Given the description of an element on the screen output the (x, y) to click on. 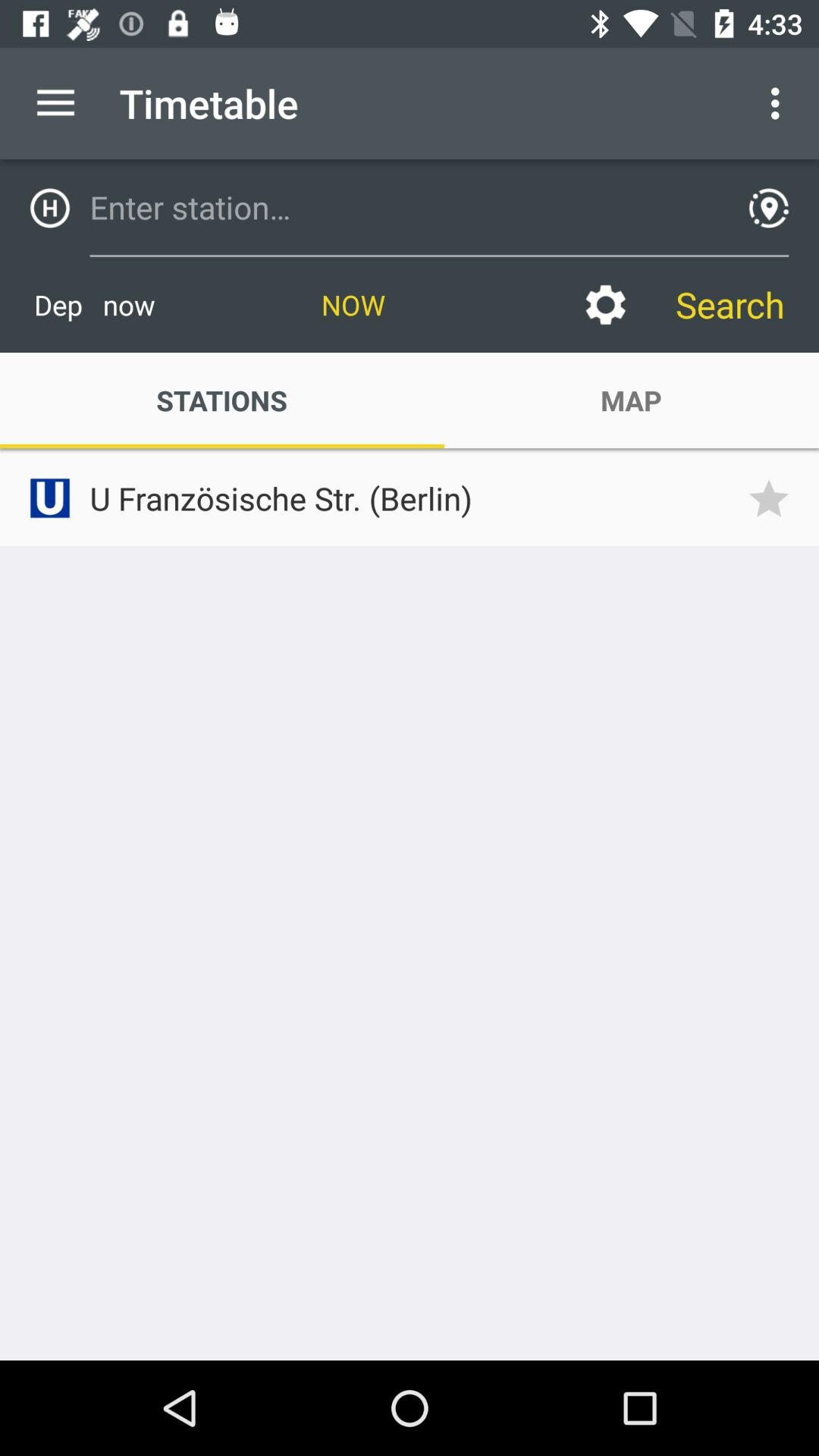
click icon to the right of the stations icon (605, 304)
